Given the description of an element on the screen output the (x, y) to click on. 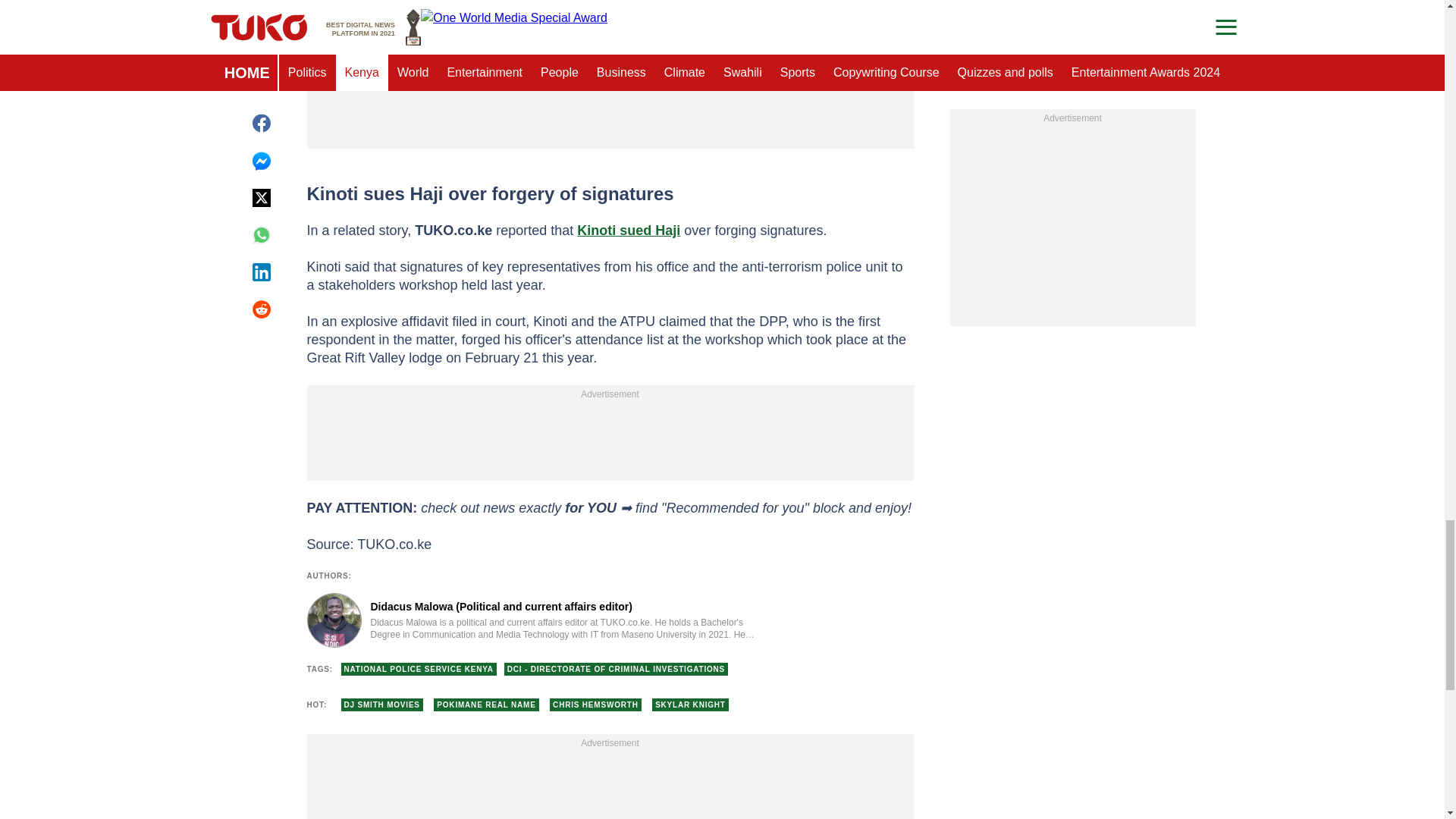
Author page (533, 619)
